Given the description of an element on the screen output the (x, y) to click on. 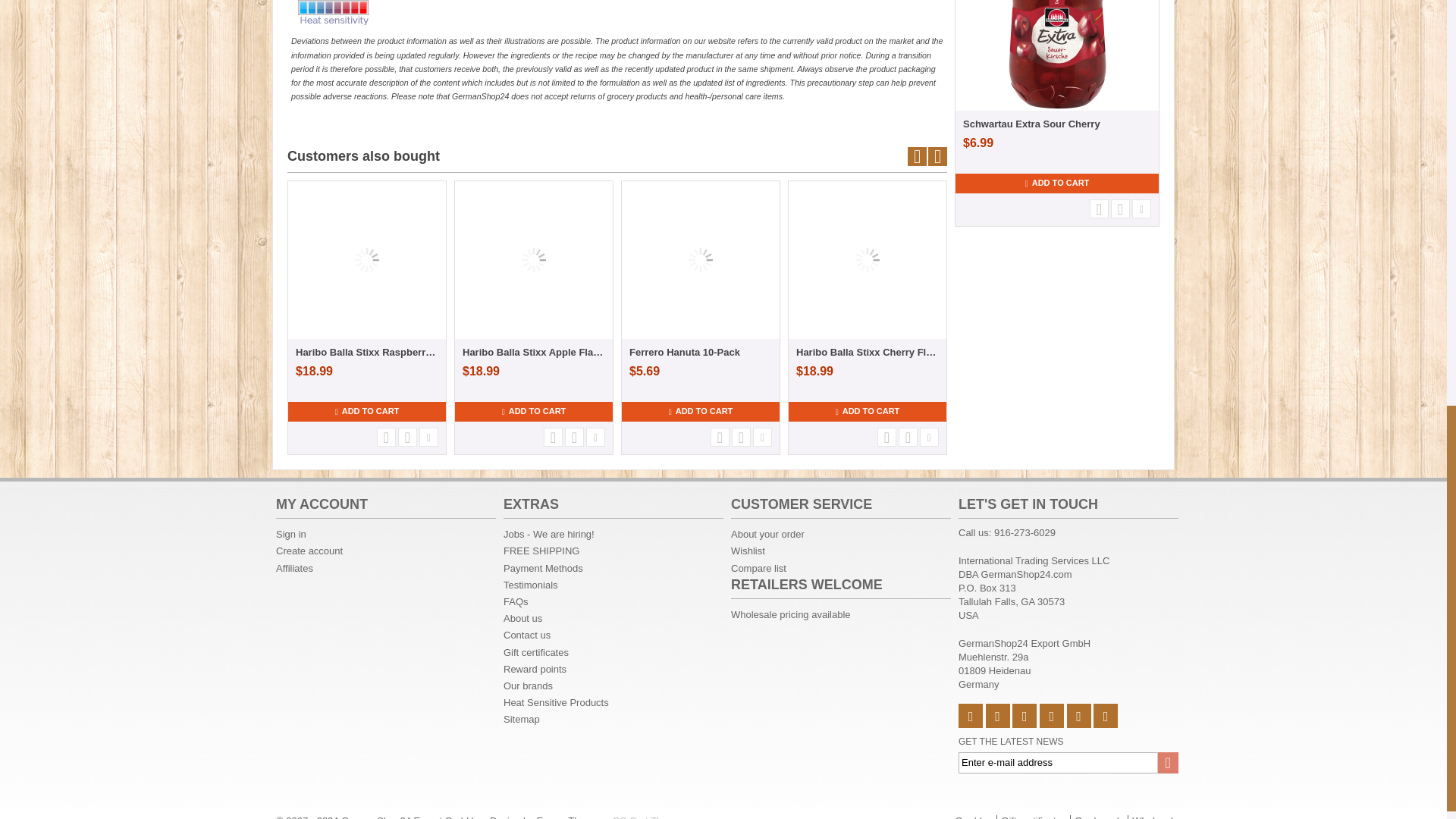
Enter e-mail address (1067, 762)
